Given the description of an element on the screen output the (x, y) to click on. 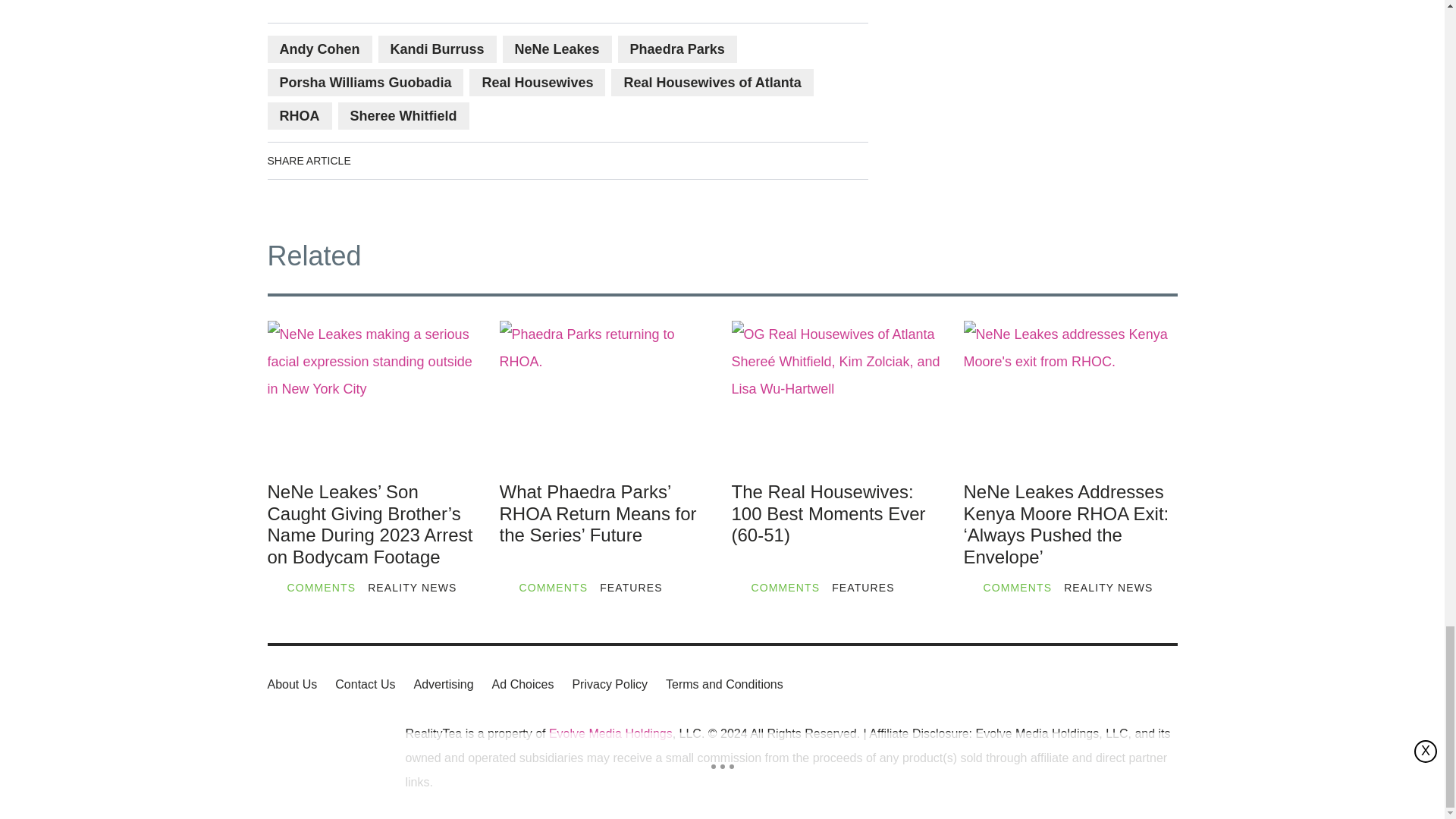
Kandi Burruss (436, 49)
RHOA (298, 115)
Andy Cohen (318, 49)
Facebook (377, 160)
Sheree Whitfield (402, 115)
NeNe Leakes (556, 49)
Real Housewives (536, 82)
Porsha Williams Guobadia (364, 82)
Real Housewives of Atlanta (711, 82)
LinkedIn (420, 160)
